Given the description of an element on the screen output the (x, y) to click on. 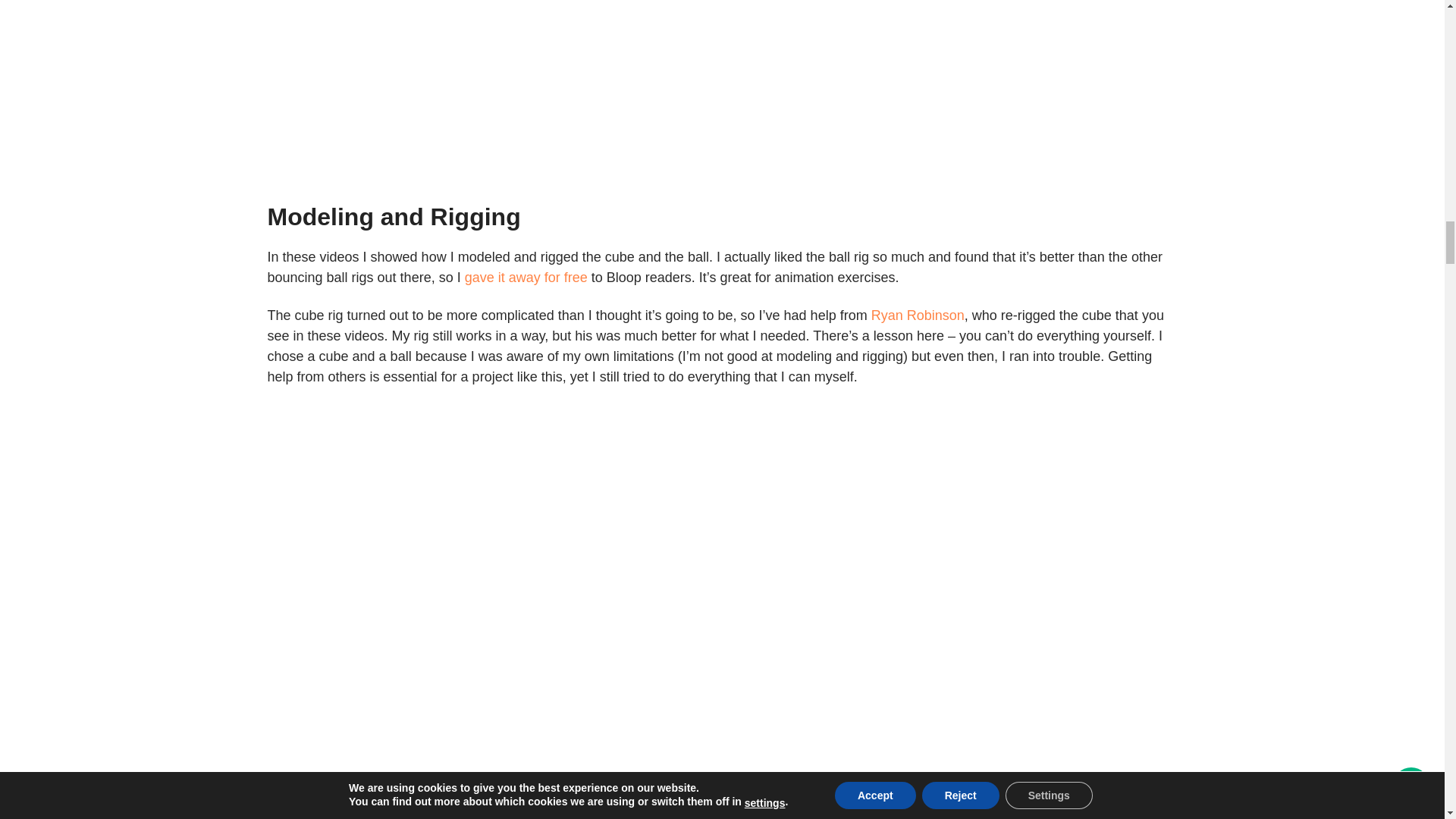
gave it away for free (526, 277)
Ryan Robinson (916, 314)
